Given the description of an element on the screen output the (x, y) to click on. 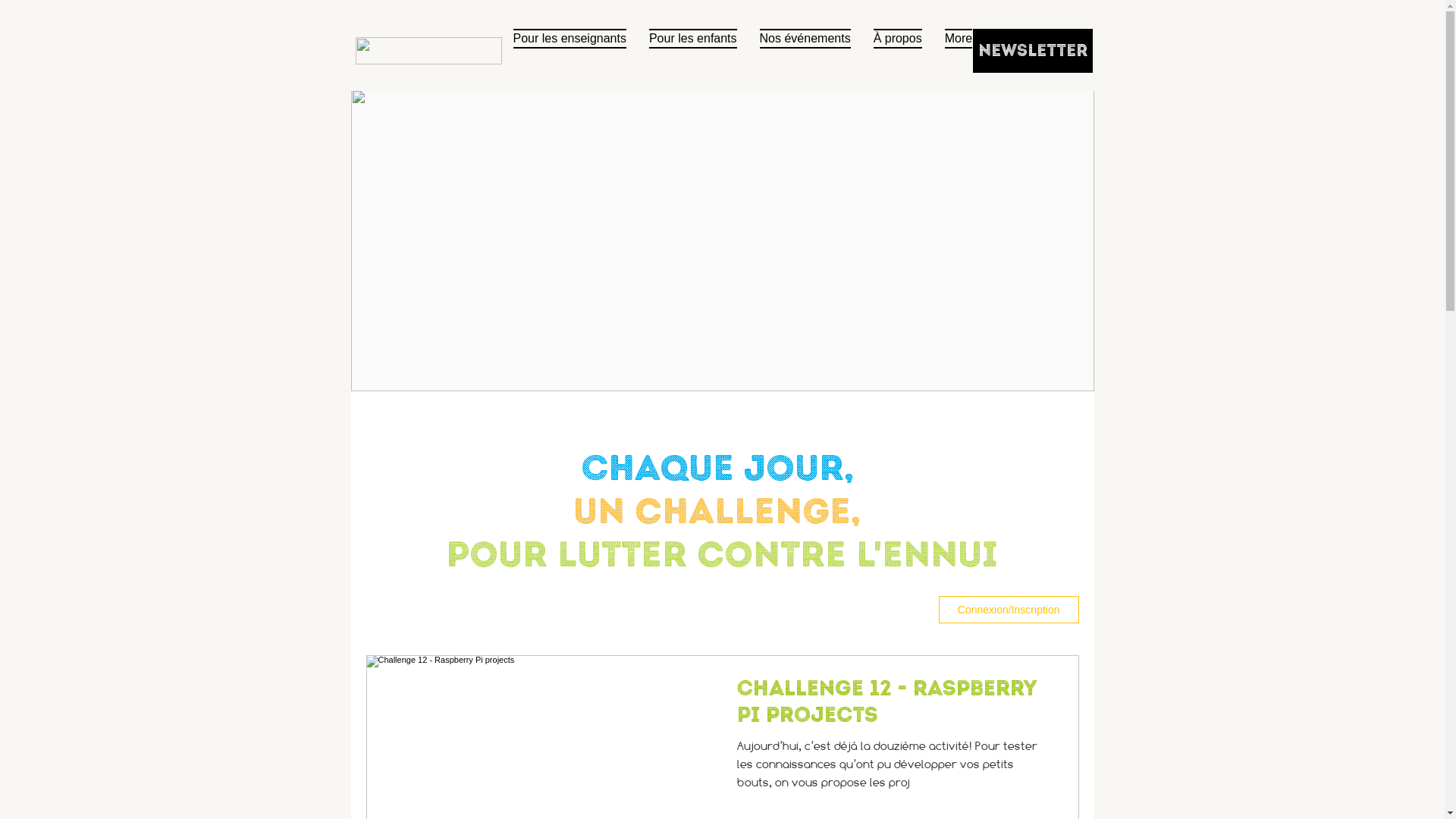
Challenge 12 - Raspberry Pi projects Element type: text (894, 705)
Connexion/Inscription Element type: text (1008, 609)
Newsletter Element type: text (1032, 50)
Pour les enseignants Element type: text (569, 50)
CodeNPlay_Logo_transparent_grand.png Element type: hover (427, 50)
Pour les enfants Element type: text (692, 50)
